Given the description of an element on the screen output the (x, y) to click on. 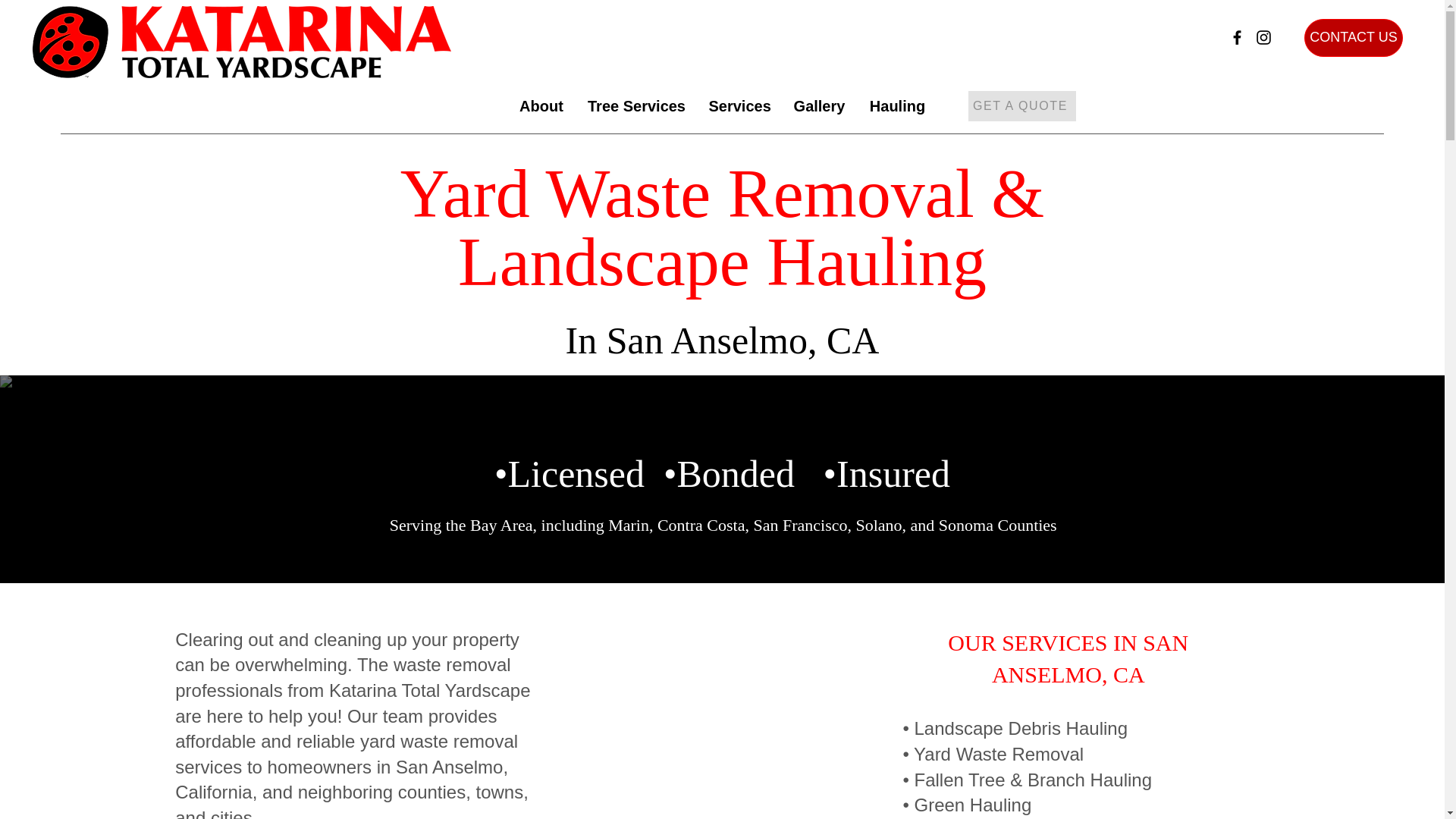
Gallery (818, 105)
CONTACT US (1353, 37)
Tree Services (636, 105)
Hauling (897, 105)
About (540, 105)
Services (739, 105)
GET A QUOTE (1021, 105)
